Given the description of an element on the screen output the (x, y) to click on. 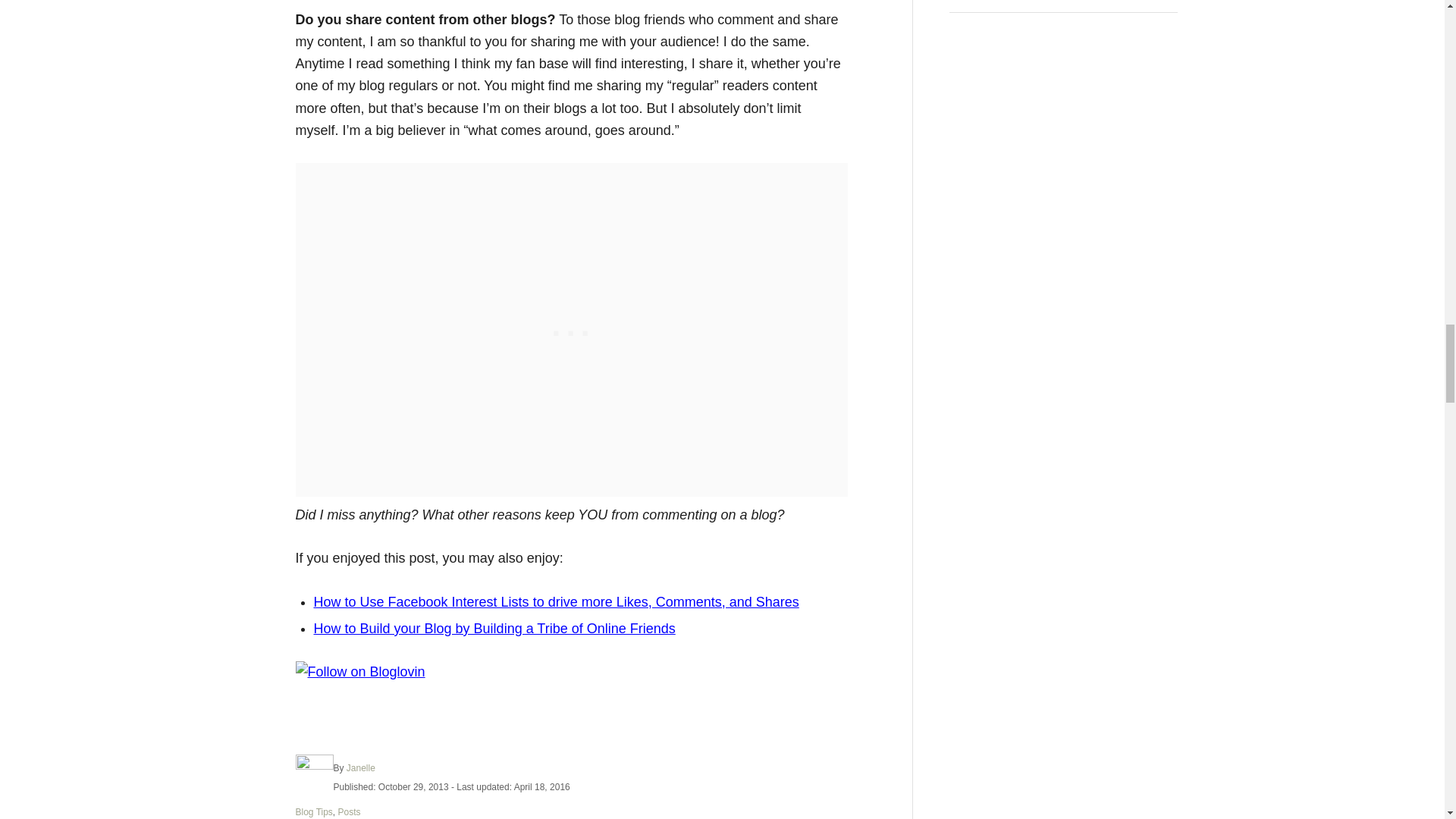
Posts (349, 811)
Follow A Dish of Daily Life on Bloglovin (360, 671)
Janelle (360, 767)
Blog Tips (314, 811)
How to Build your Blog by Building a Tribe of Online Friends (494, 628)
